Given the description of an element on the screen output the (x, y) to click on. 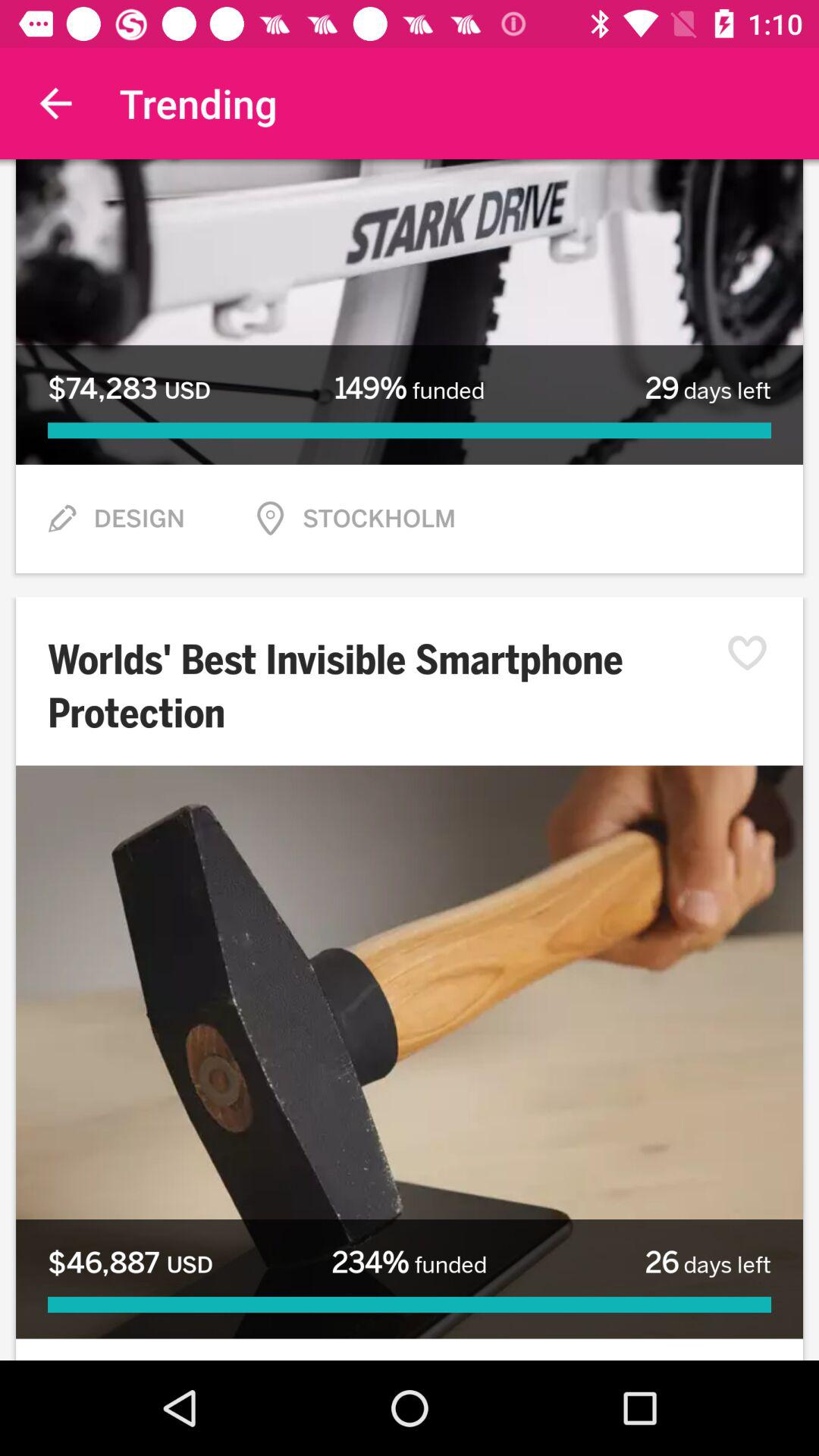
turn on the item to the left of the trending app (55, 103)
